Given the description of an element on the screen output the (x, y) to click on. 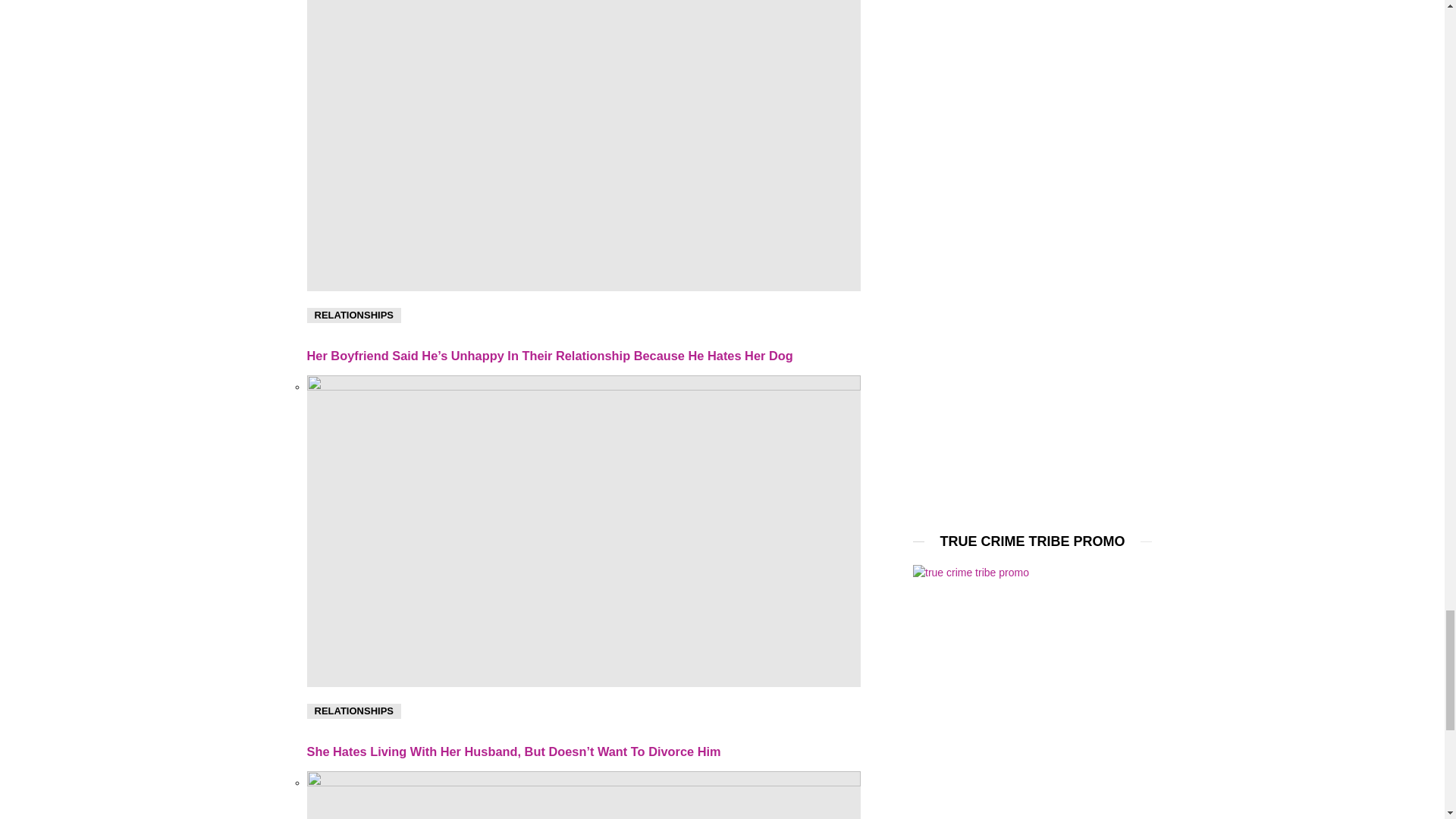
Her Boyfriend Wants Her To Help Pay Child Support On His Kid (582, 795)
